Given the description of an element on the screen output the (x, y) to click on. 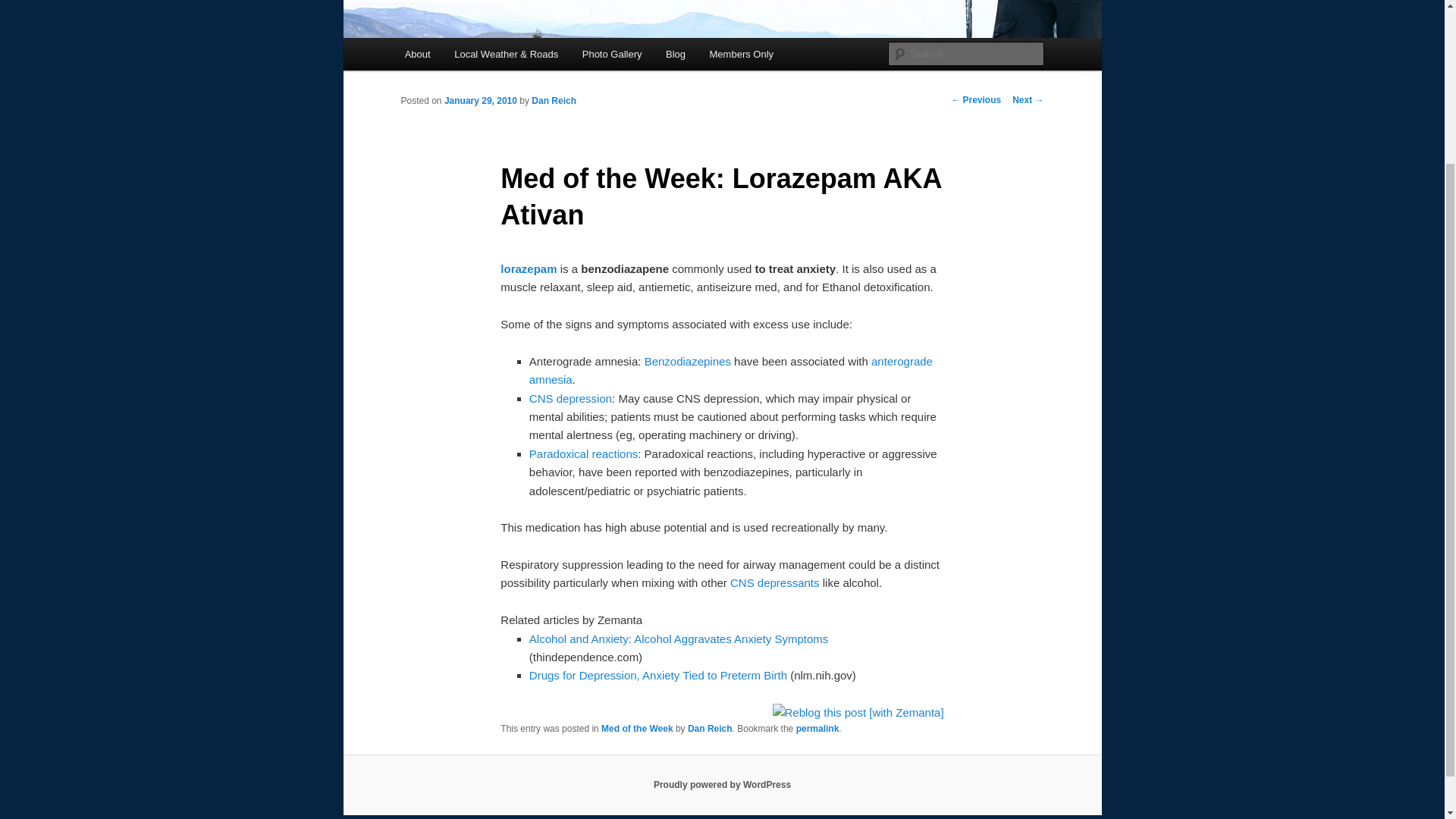
12:15 pm (480, 100)
Skip to secondary content (479, 56)
Drugs for Depression, Anxiety Tied to Preterm Birth (658, 675)
lorazepam (528, 268)
Alcohol and Anxiety: Alcohol Aggravates Anxiety Symptoms (678, 638)
Permalink to Med of the Week: Lorazepam AKA Ativan (818, 728)
Lorazepam (528, 268)
Skip to primary content (472, 56)
Med of the Week (636, 728)
About (417, 53)
January 29, 2010 (480, 100)
CNS depression (570, 398)
Photo Gallery (611, 53)
Dan Reich (709, 728)
Semantic Personal Publishing Platform (721, 784)
